Given the description of an element on the screen output the (x, y) to click on. 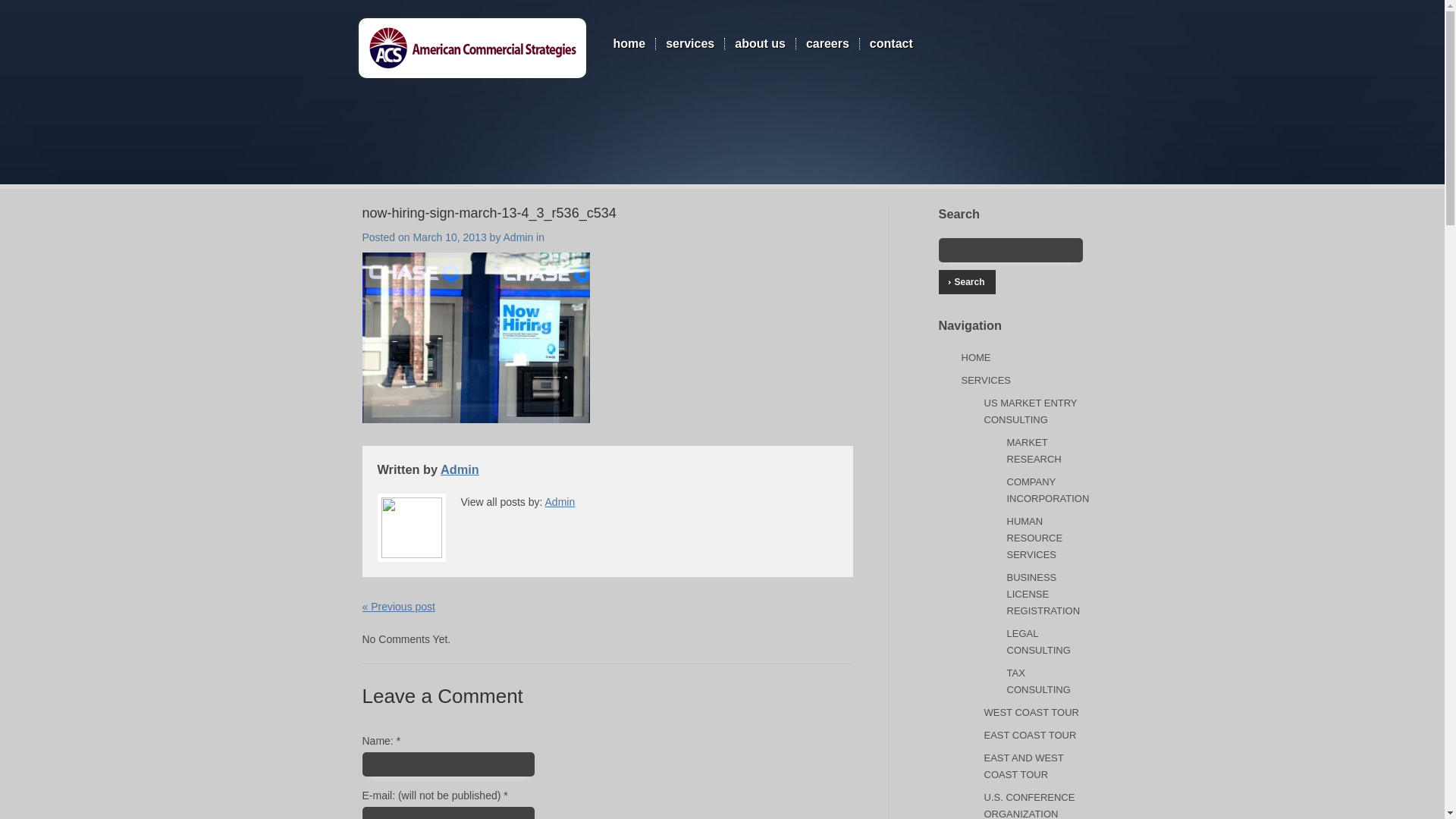
HUMAN RESOURCE SERVICES (1034, 537)
Posts by Admin (518, 236)
Admin (559, 501)
Admin (460, 468)
U.S. CONFERENCE ORGANIZATION (1029, 805)
BUSINESS LICENSE REGISTRATION (1043, 593)
Search (967, 282)
LEGAL CONSULTING (1038, 642)
Posts by Admin (460, 468)
COMPANY INCORPORATION (1048, 489)
EAST COAST TOUR (1030, 735)
careers (827, 43)
MARKET RESEARCH (1034, 450)
US MARKET ENTRY CONSULTING (1030, 411)
about us (760, 43)
